Given the description of an element on the screen output the (x, y) to click on. 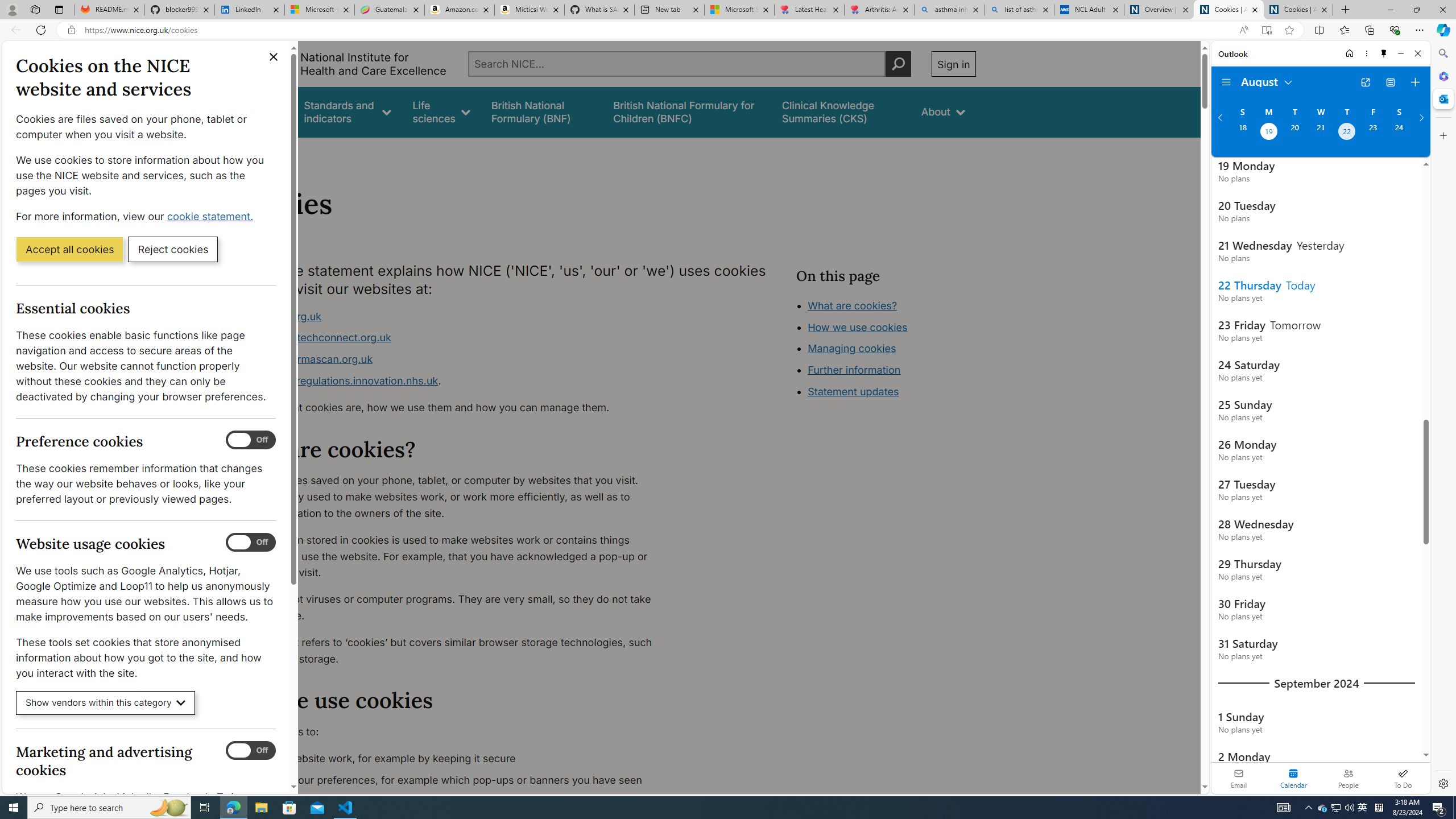
Thursday, August 22, 2024. Today.  (1346, 132)
How we use cookies (857, 327)
NCL Adult Asthma Inhaler Choice Guideline (1088, 9)
Monday, August 19, 2024. Date selected.  (1268, 132)
list of asthma inhalers uk - Search (1018, 9)
Cookies | About | NICE (1297, 9)
Home> (246, 152)
